Given the description of an element on the screen output the (x, y) to click on. 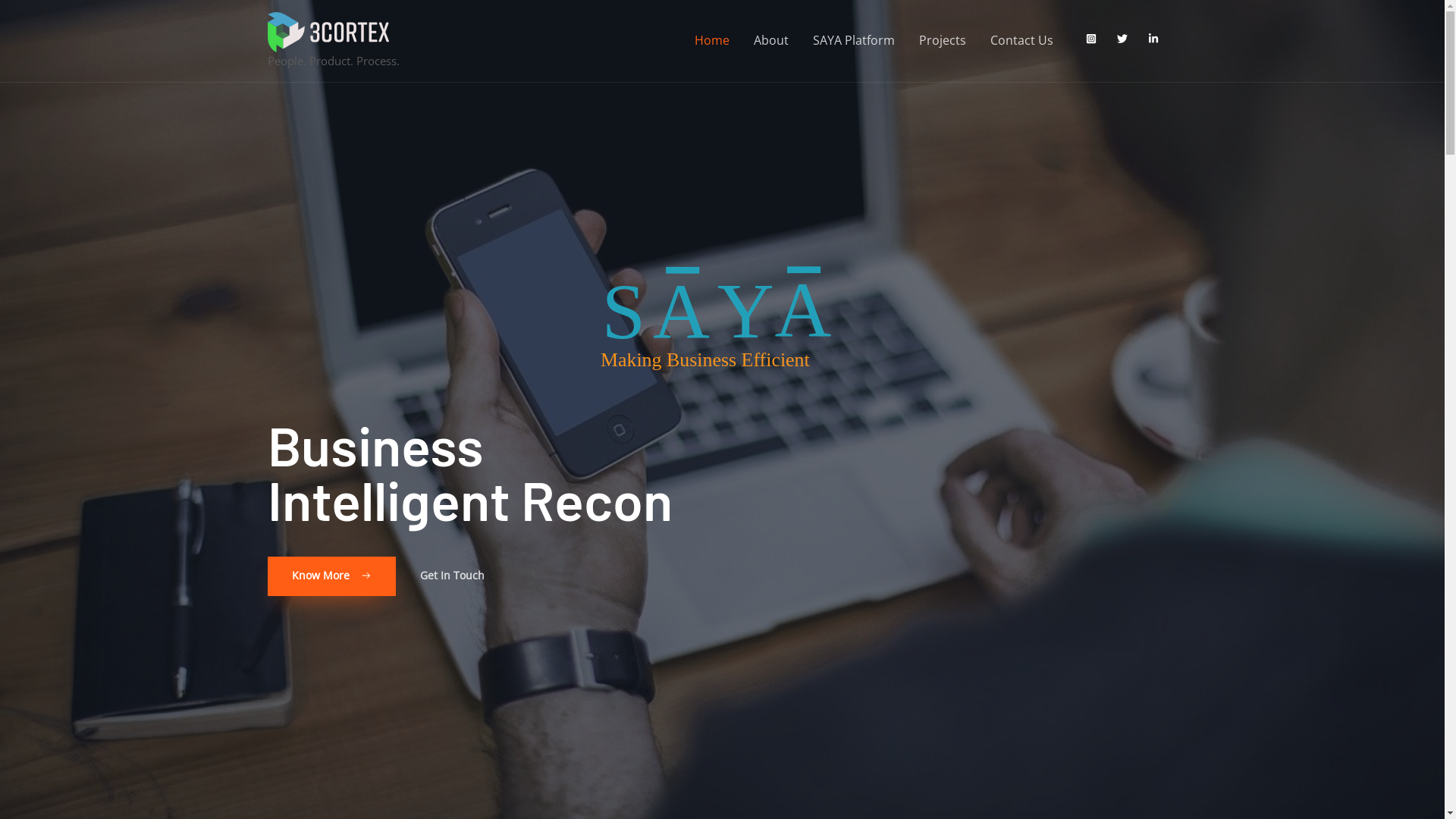
Projects Element type: text (942, 40)
Contact Us Element type: text (1021, 40)
Know More Element type: text (330, 576)
SAYA Platform Element type: text (853, 40)
Get In Touch Element type: text (451, 575)
Home Element type: text (711, 40)
About Element type: text (770, 40)
